Given the description of an element on the screen output the (x, y) to click on. 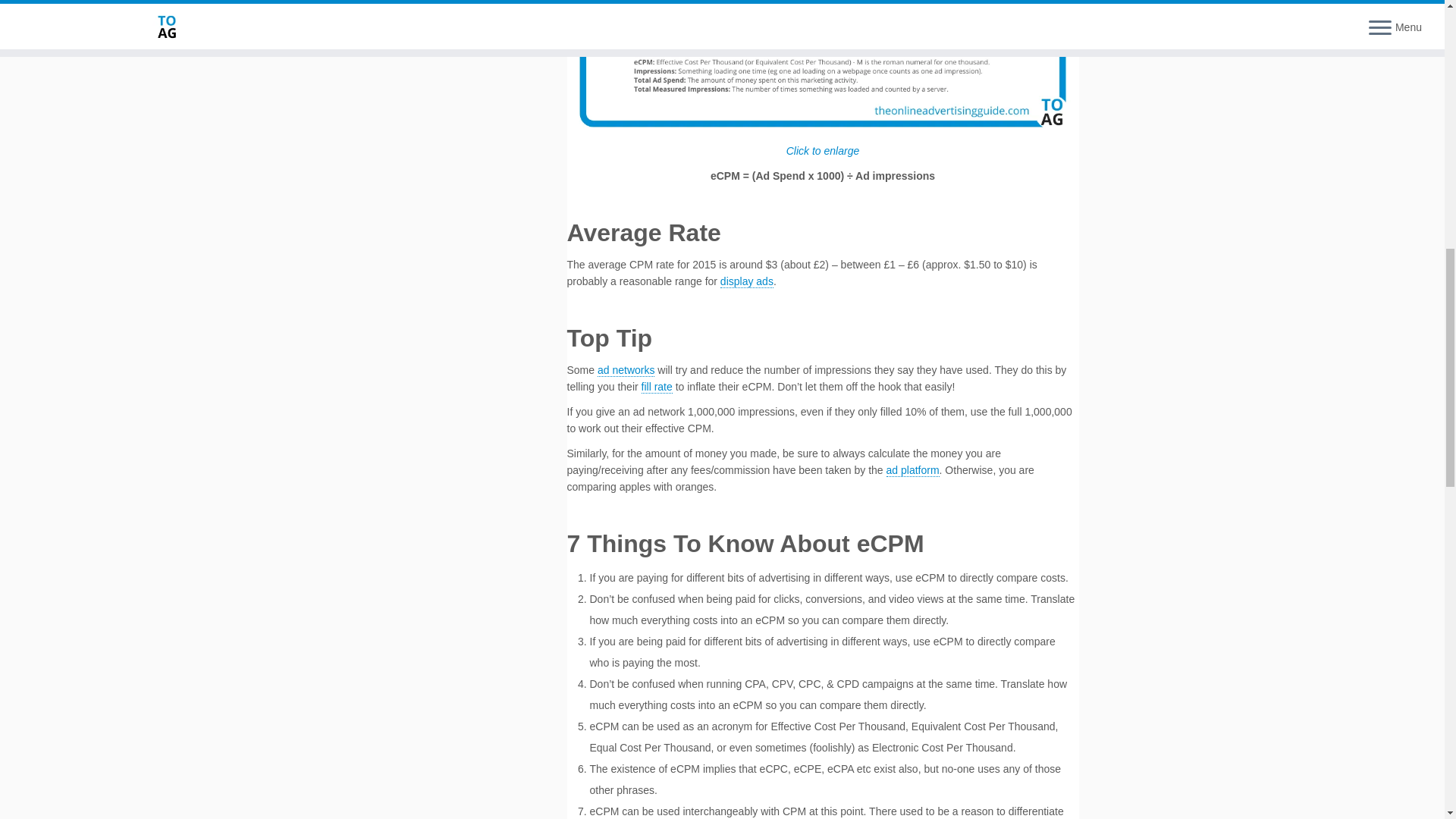
display ads (746, 281)
ad networks (624, 369)
Click to enlarge (822, 78)
fill rate (657, 386)
